Given the description of an element on the screen output the (x, y) to click on. 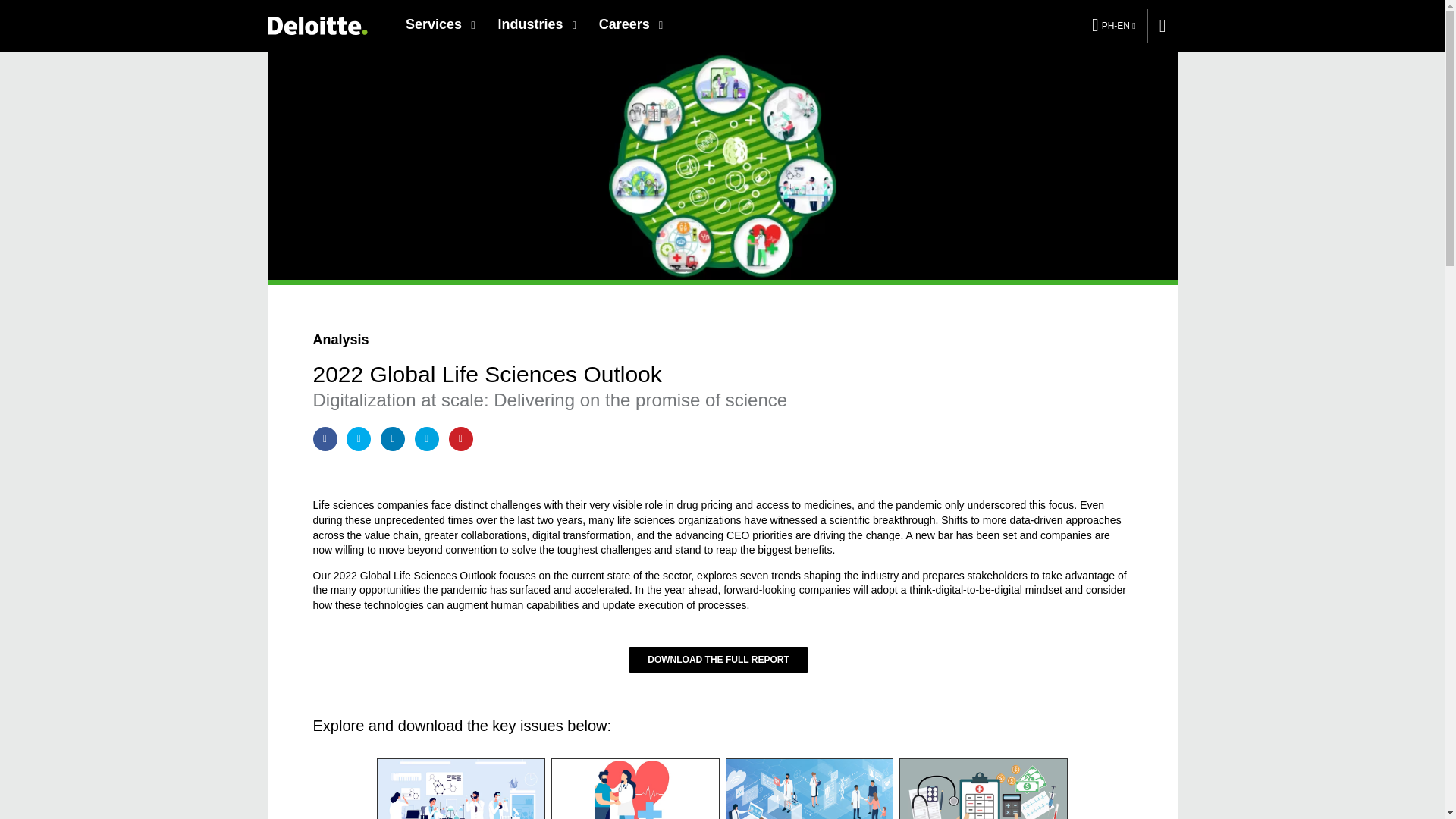
Share via Twitter (358, 438)
Services (440, 24)
Share via Pinterest (460, 438)
Share via LinkedIn (392, 438)
Deloitte Philippines (316, 25)
Share via Email (426, 438)
Share via Facebook (324, 438)
Industries (536, 24)
